Given the description of an element on the screen output the (x, y) to click on. 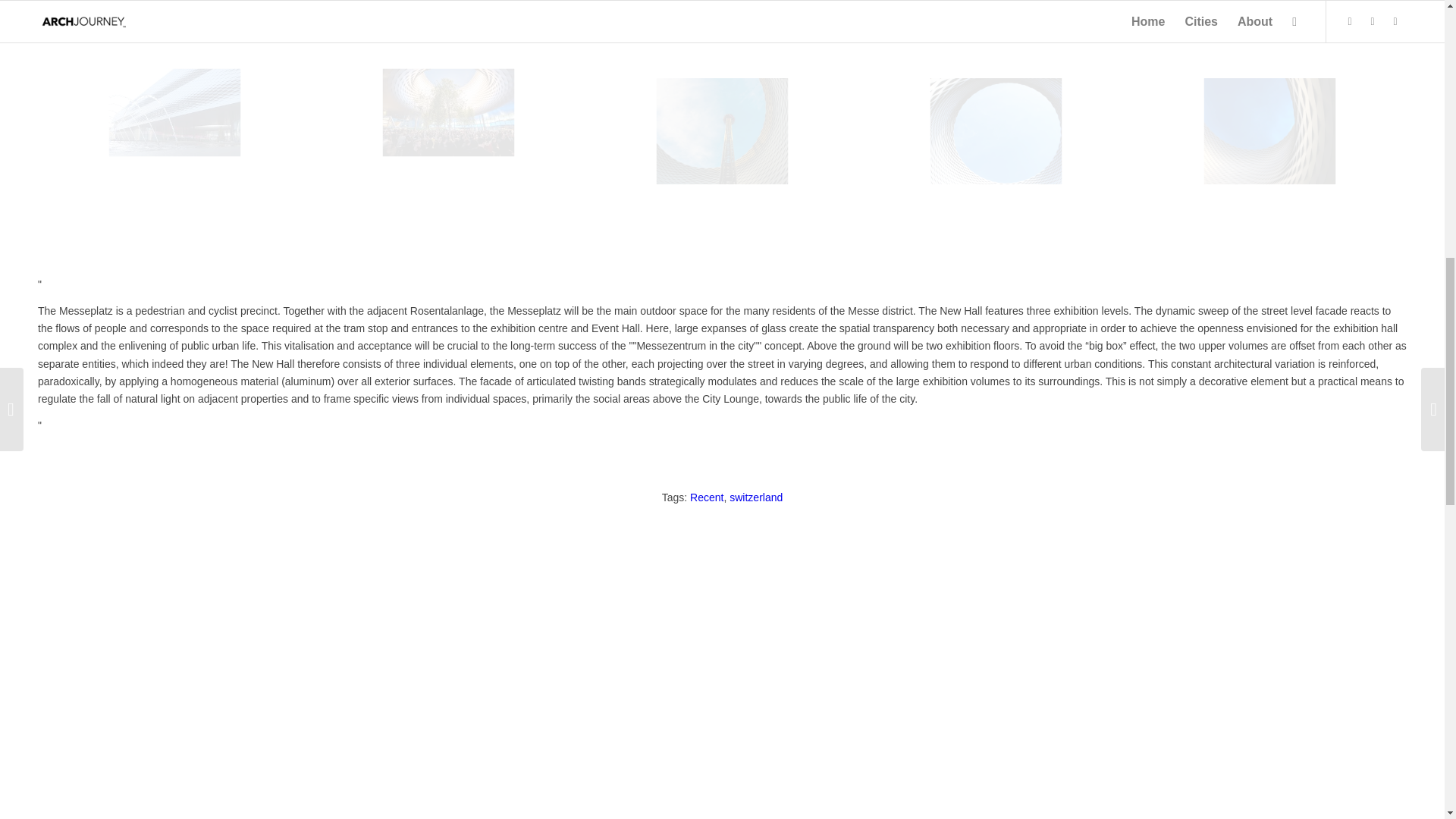
Recent (706, 497)
switzerland (756, 497)
